Given the description of an element on the screen output the (x, y) to click on. 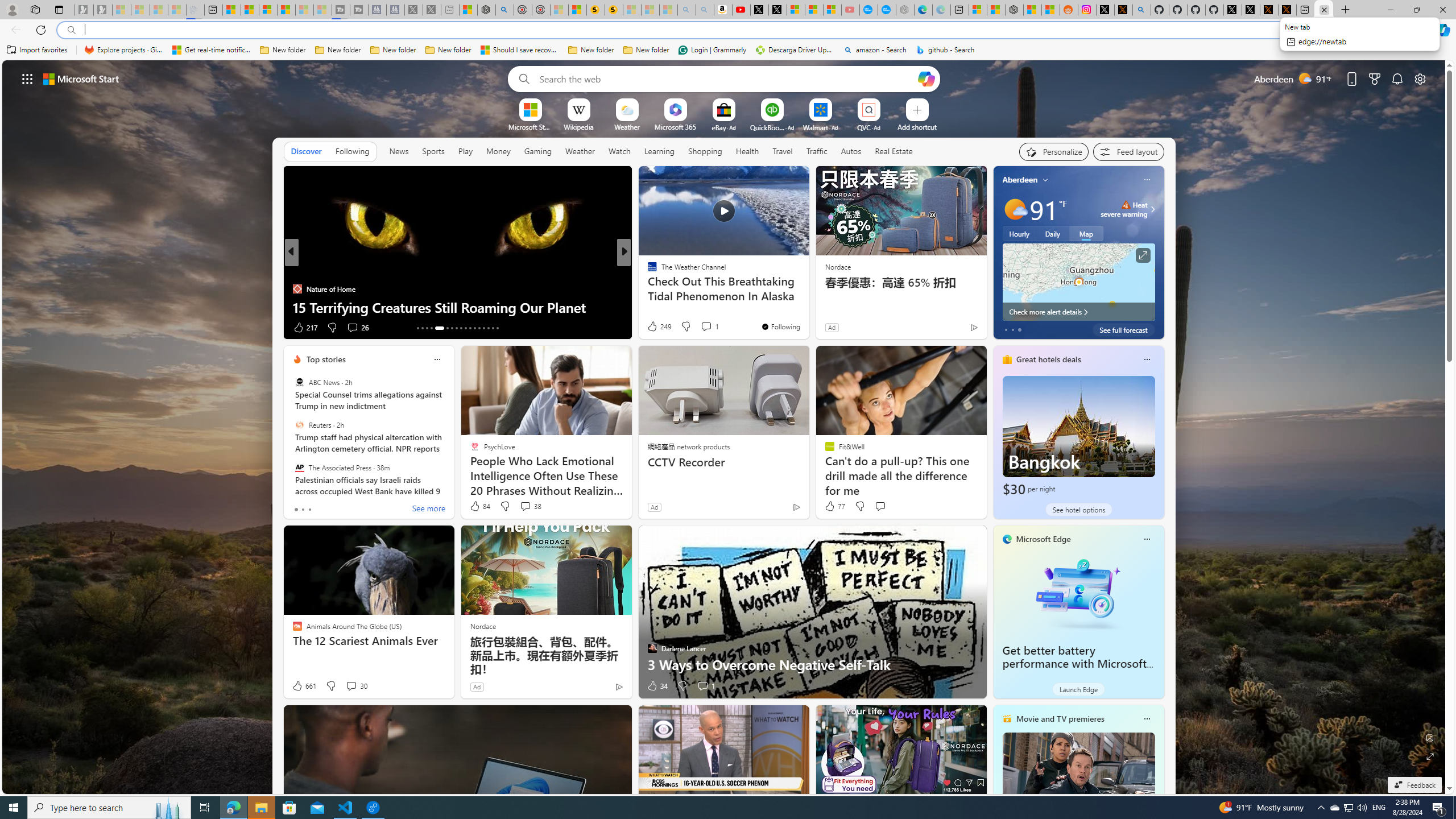
View comments 26 Comment (357, 327)
Aberdeen (1019, 179)
You're following The Weather Channel (780, 326)
View comments 5 Comment (698, 327)
Descarga Driver Updater (794, 49)
The Verge (647, 288)
Get better battery performance with Microsoft Edge (1077, 592)
